Given the description of an element on the screen output the (x, y) to click on. 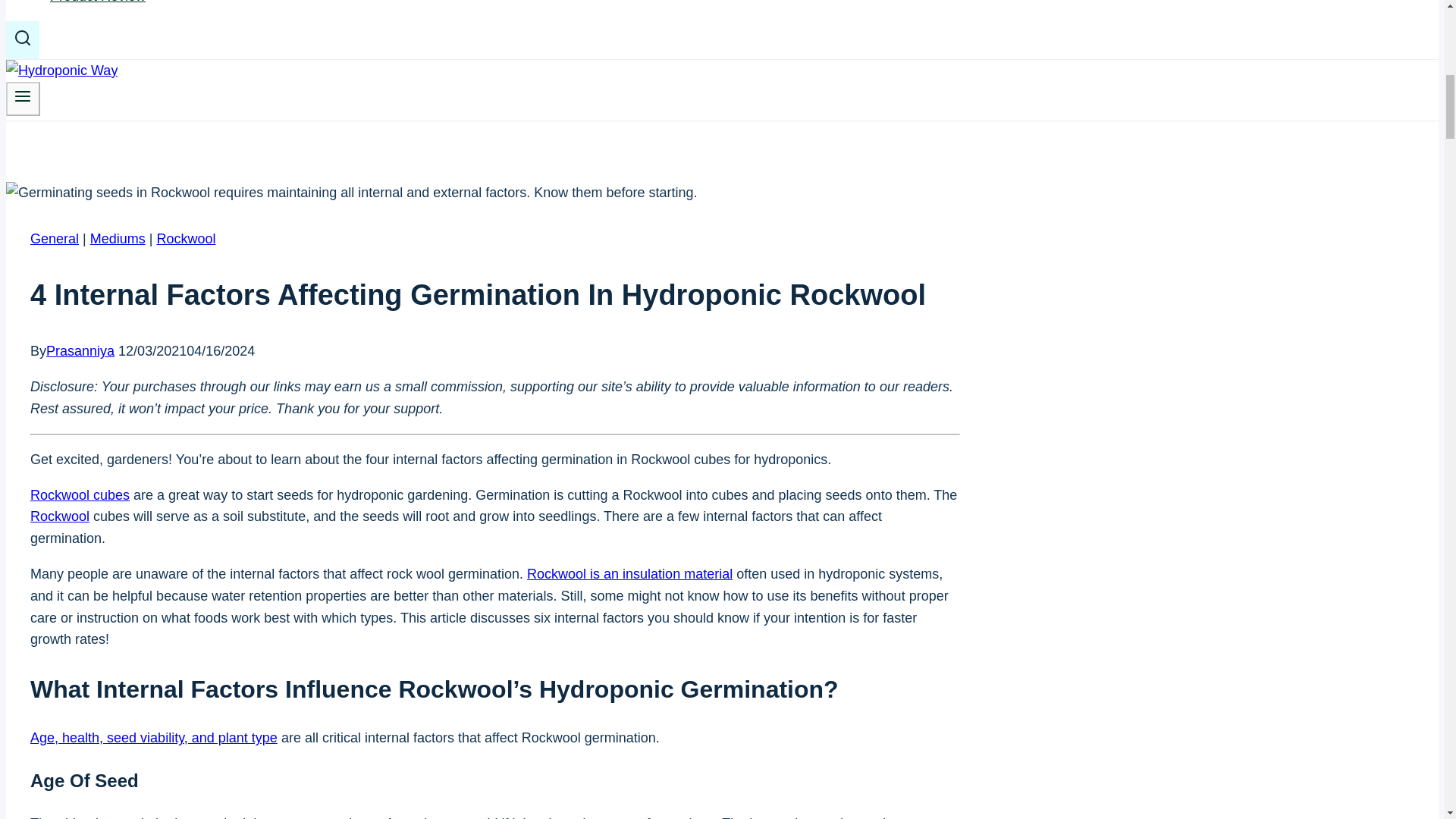
Search (22, 37)
How to Treat Insulation Rockwool for Hydroponic Growing (629, 573)
Toggle Menu (22, 95)
